Given the description of an element on the screen output the (x, y) to click on. 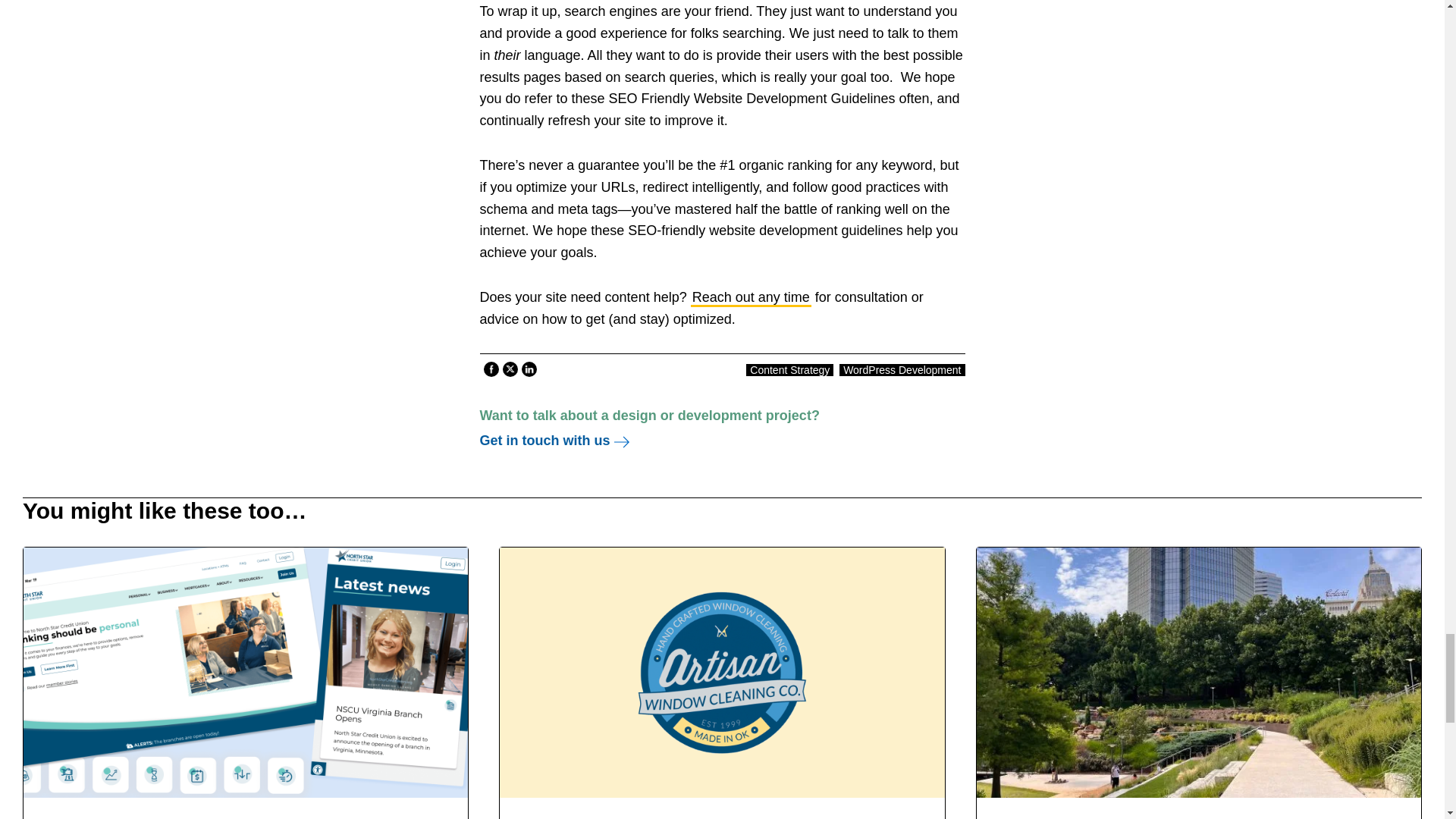
Reach out any time (750, 298)
Get in touch with us (553, 440)
WordPress Development (901, 369)
Facebook (490, 368)
LinkedIn (528, 368)
Twitter (509, 369)
Content Strategy (788, 369)
